Given the description of an element on the screen output the (x, y) to click on. 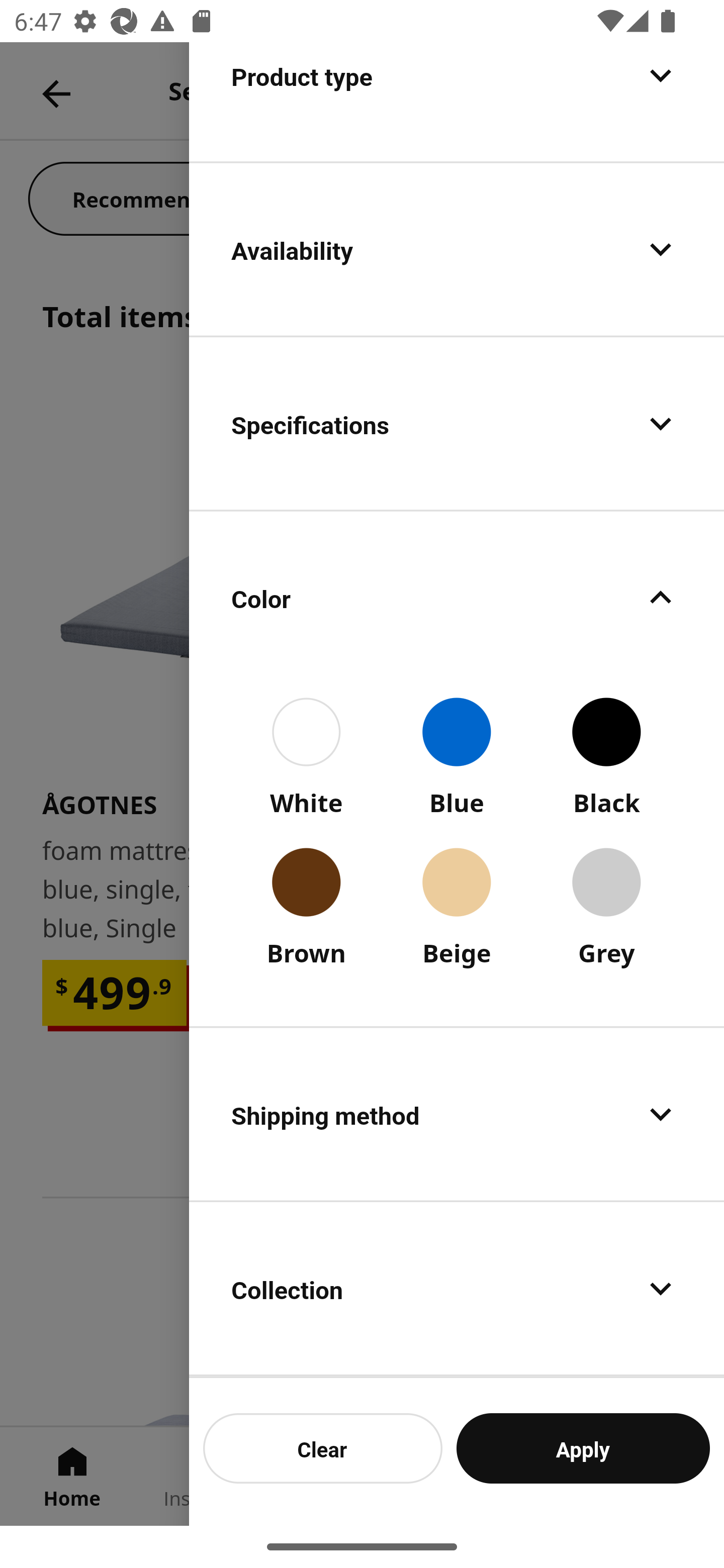
Product type (456, 100)
Availability (456, 248)
Specifications (456, 423)
Color (456, 597)
Shipping method (456, 1113)
Collection (456, 1288)
Clear (322, 1447)
Apply (583, 1447)
